Given the description of an element on the screen output the (x, y) to click on. 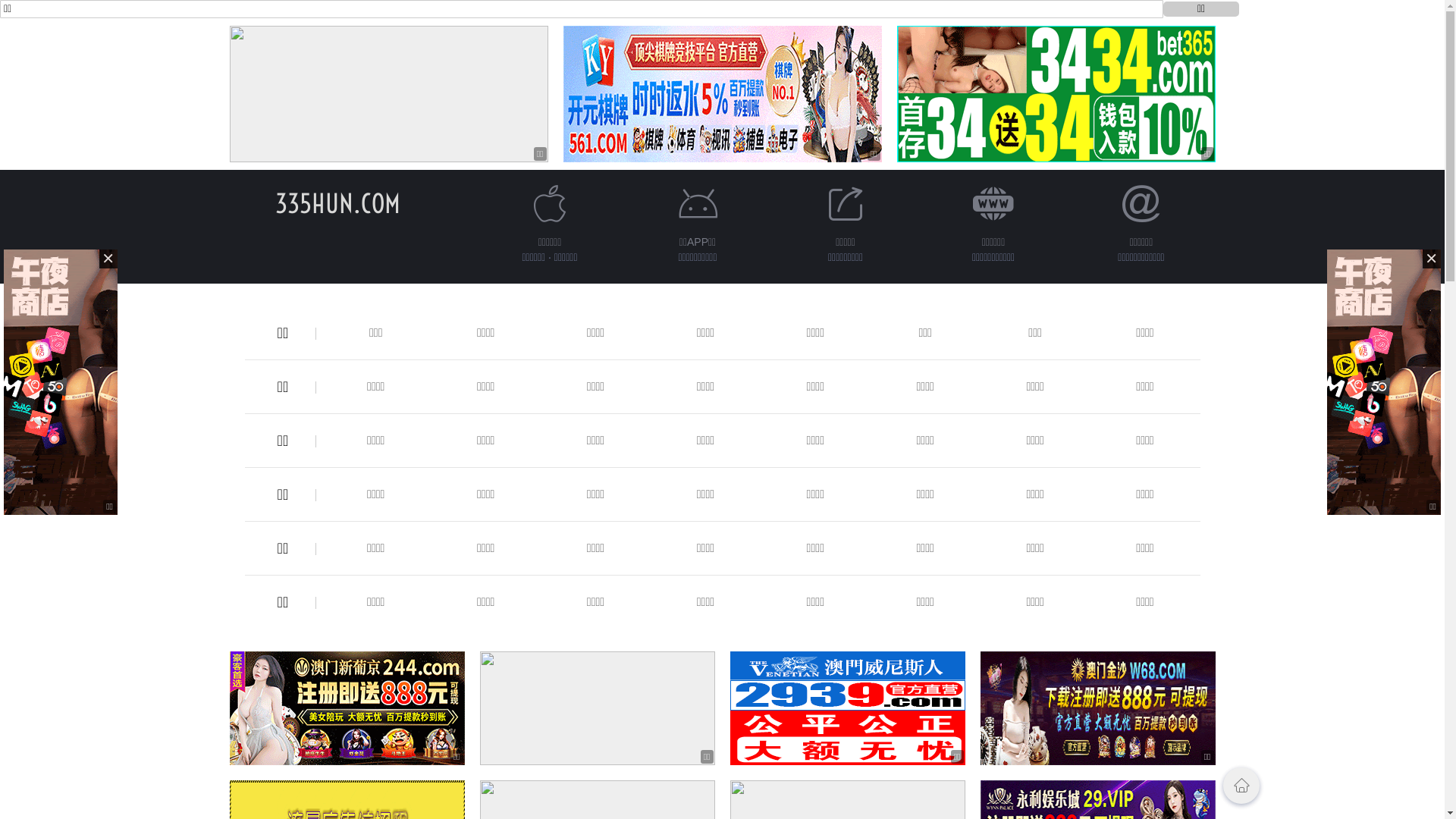
335HUN.COM Element type: text (337, 203)
